Given the description of an element on the screen output the (x, y) to click on. 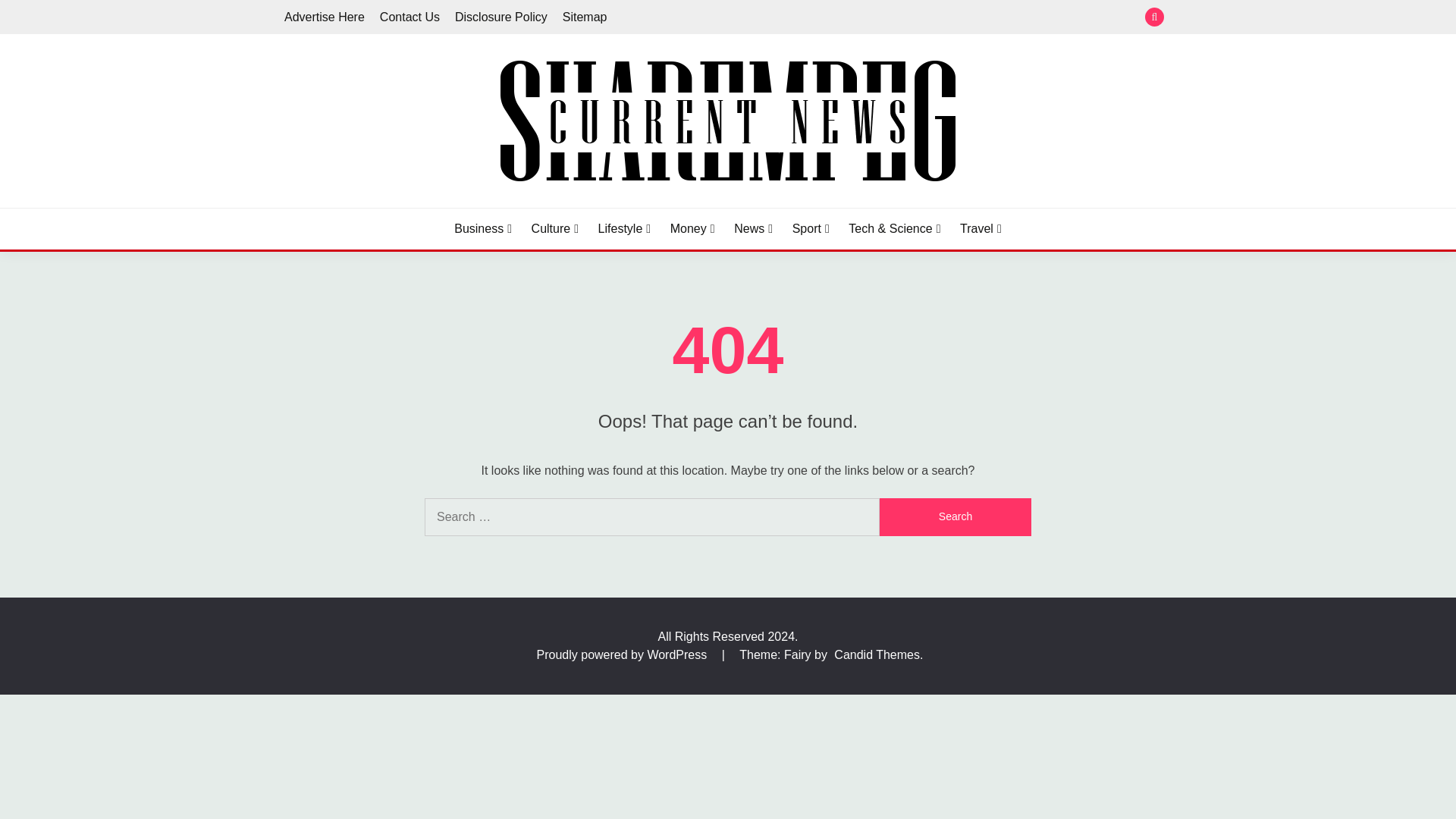
Contact Us (409, 16)
Lifestyle (624, 229)
Business (483, 229)
Money (691, 229)
Culture (554, 229)
Search (839, 18)
Advertise Here (324, 16)
Search (954, 516)
SHARE MPEG (377, 205)
Search (954, 516)
Sitemap (584, 16)
Disclosure Policy (500, 16)
